Given the description of an element on the screen output the (x, y) to click on. 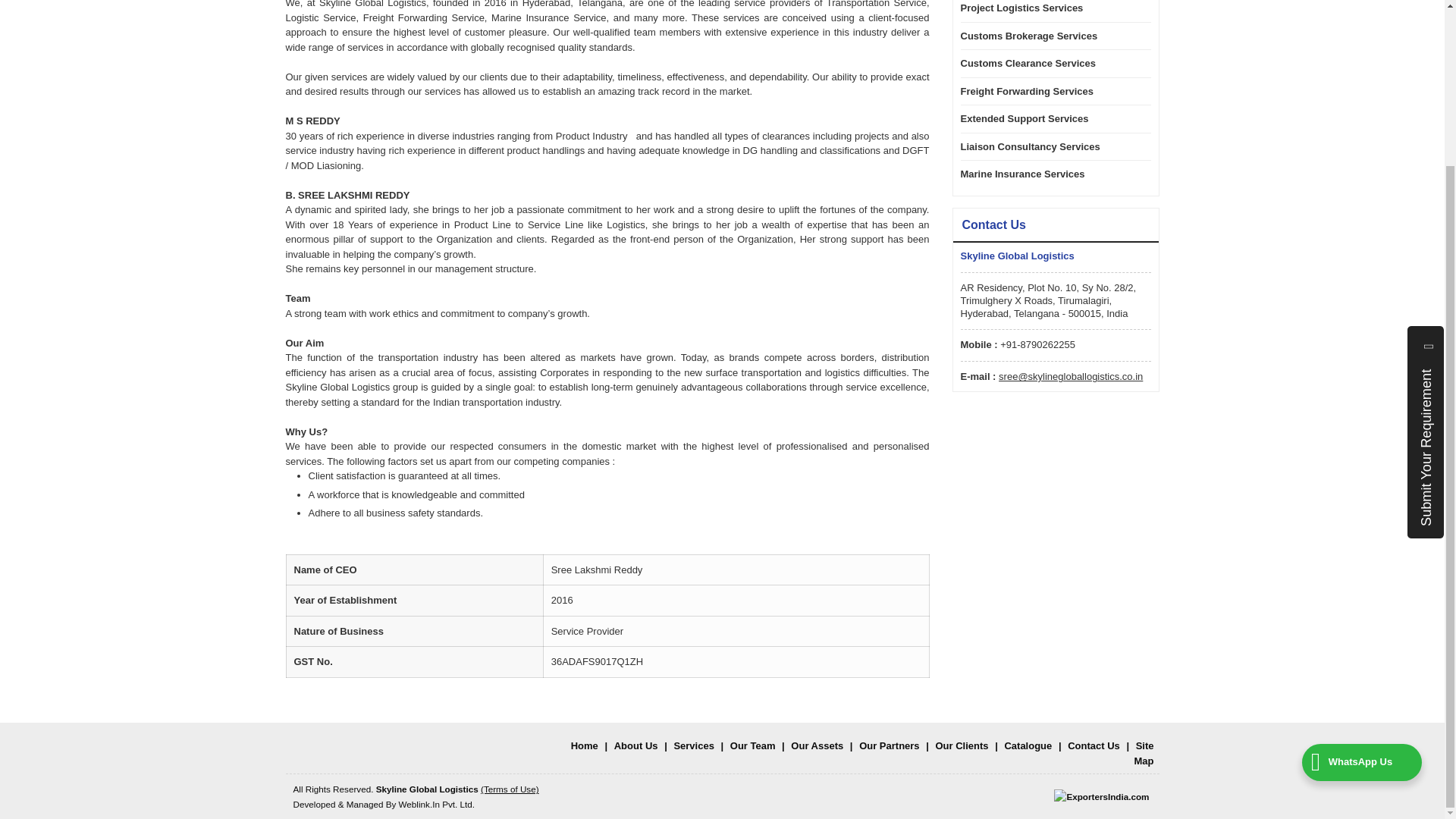
Project Logistics Services (1048, 7)
Marine Insurance Services (1048, 174)
Liaison Consultancy Services (1048, 146)
Customs Clearance Services (1048, 63)
Extended Support Services (1048, 118)
Customs Brokerage Services (1048, 36)
Freight Forwarding Services (1048, 91)
